Given the description of an element on the screen output the (x, y) to click on. 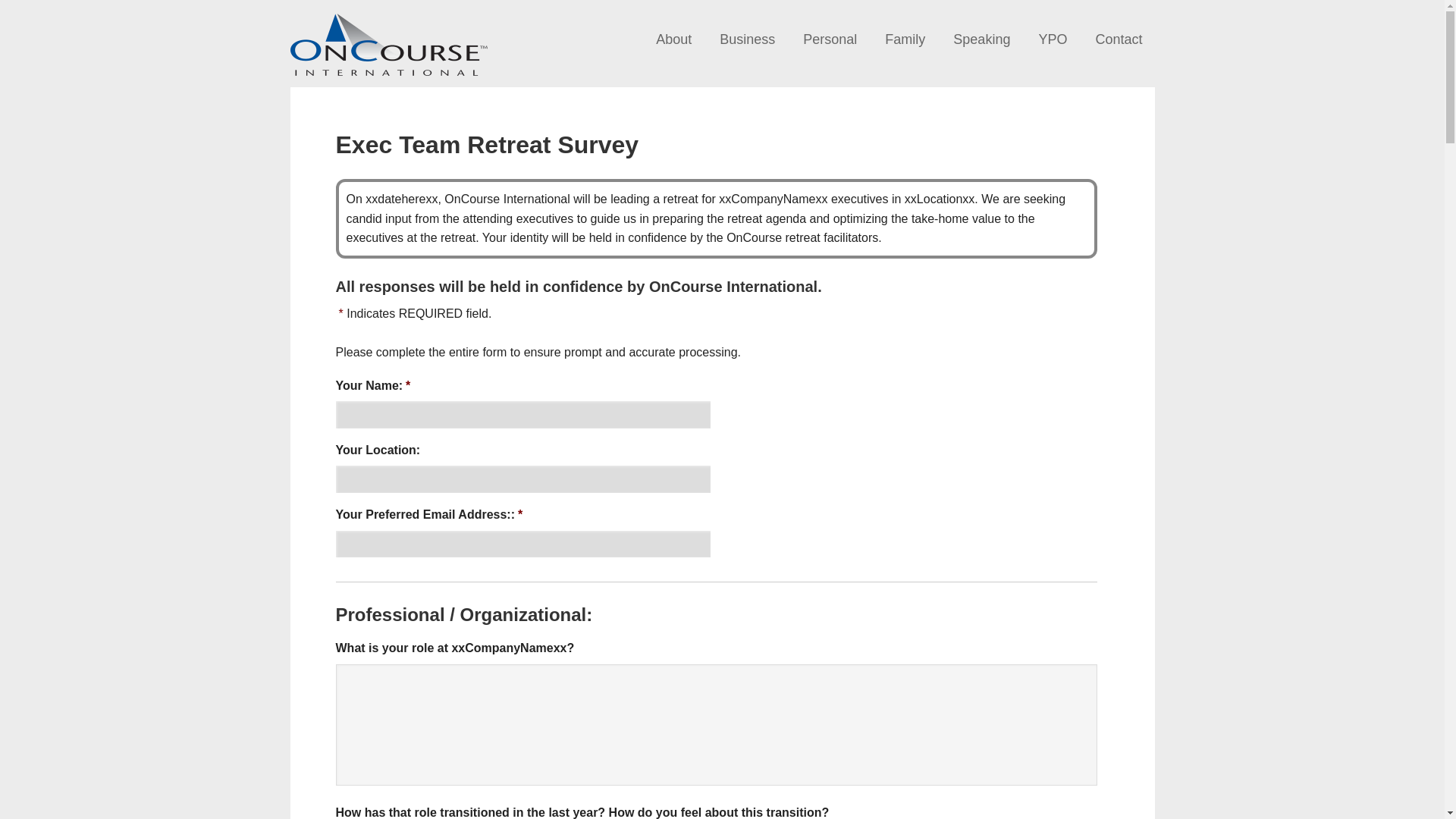
Personal (829, 40)
OnCourse International (387, 38)
Business (747, 40)
Speaking (981, 40)
